Given the description of an element on the screen output the (x, y) to click on. 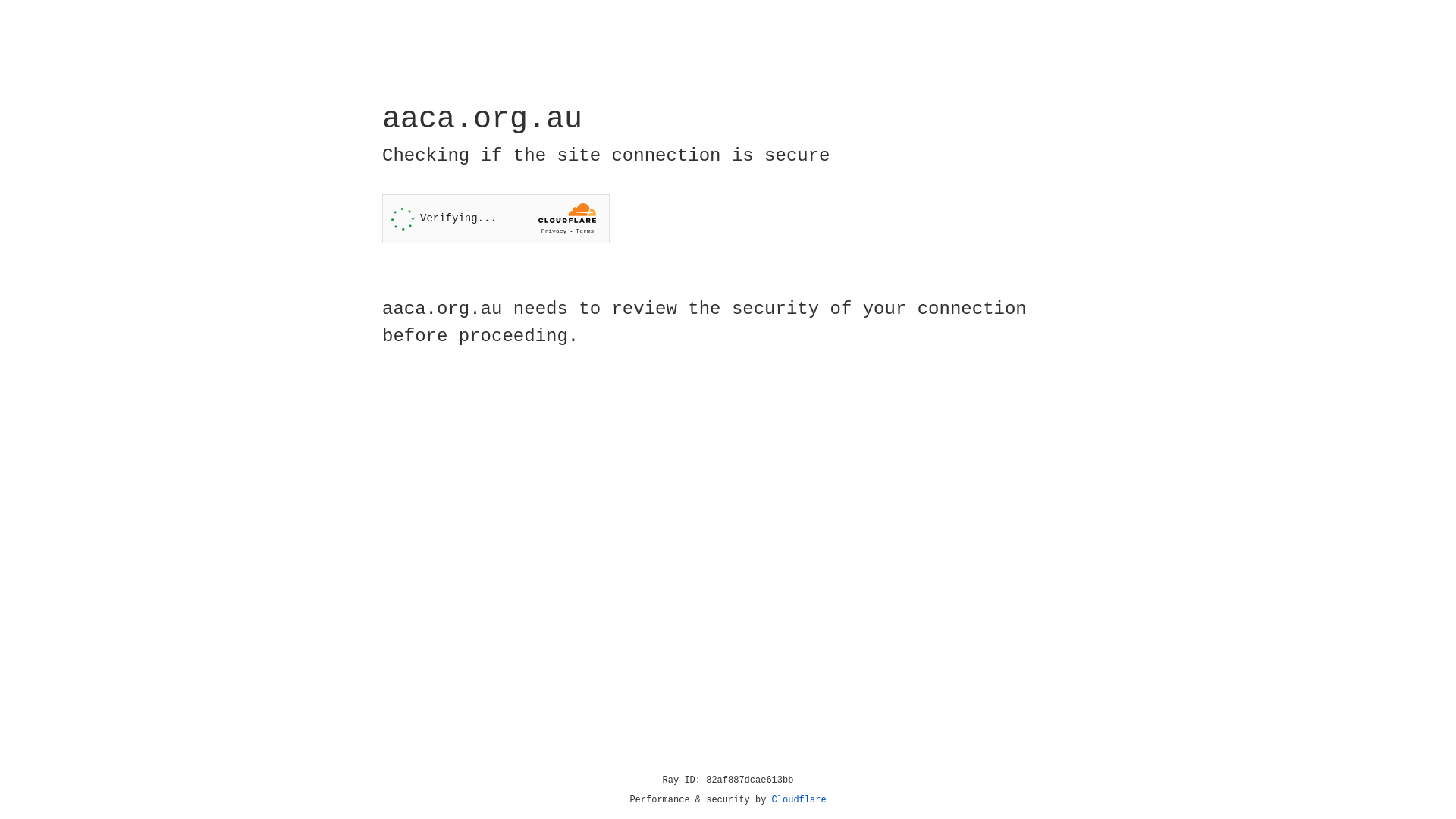
Widget containing a Cloudflare security challenge Element type: hover (495, 218)
Cloudflare Element type: text (798, 799)
